Given the description of an element on the screen output the (x, y) to click on. 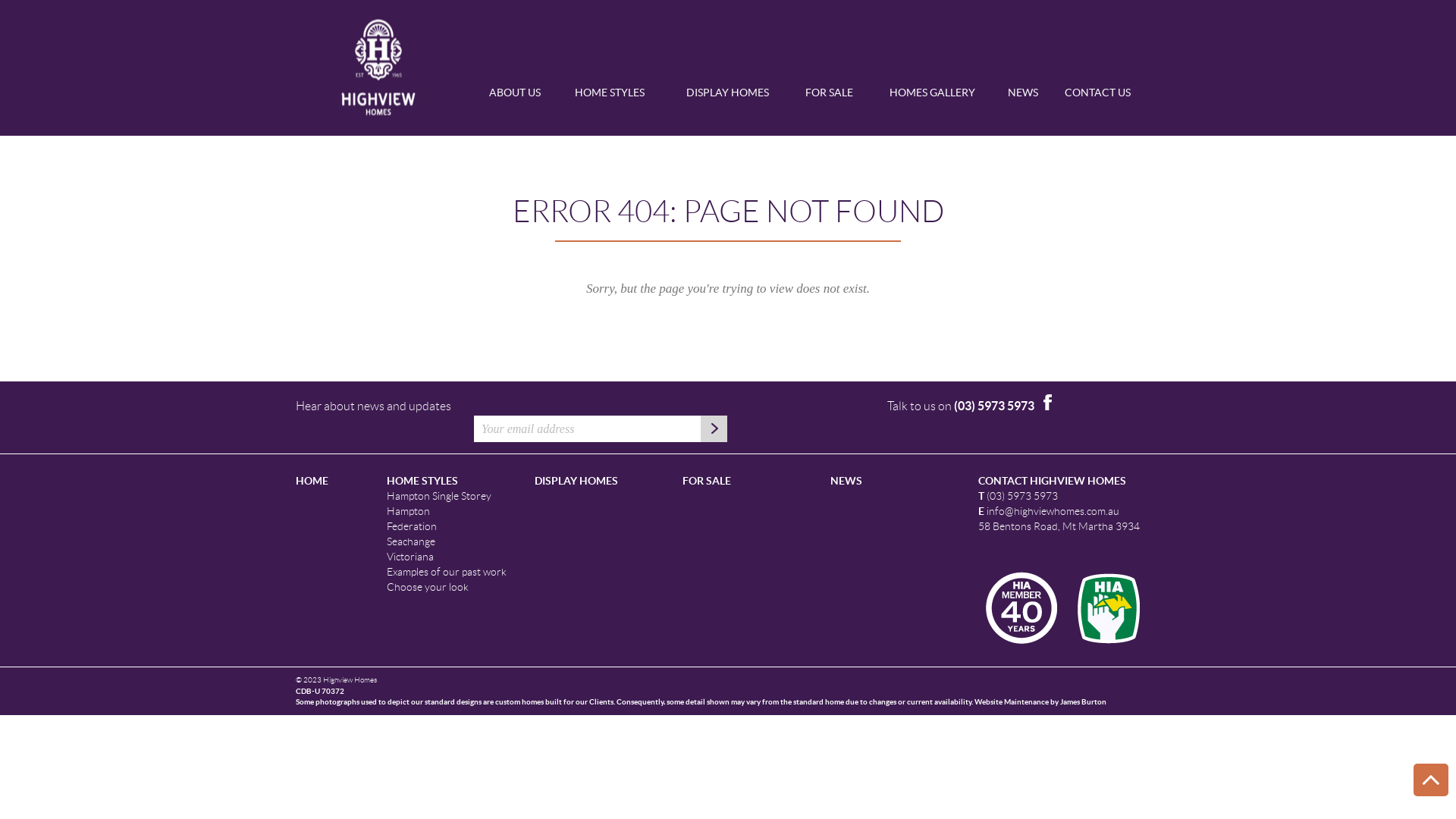
Hampton Single Storey Element type: text (438, 495)
Hampton Element type: text (407, 511)
Federation Element type: text (411, 526)
Victoriana Element type: text (409, 556)
DISPLAY HOMES Element type: text (727, 98)
ABOUT US Element type: text (515, 98)
HOME STYLES Element type: text (609, 98)
HOME Element type: text (379, 67)
NEWS Element type: text (1022, 98)
CONTACT US Element type: text (1097, 98)
Examples of our past work Element type: text (446, 571)
James Burton Element type: text (1083, 701)
info@highviewhomes.com.au Element type: text (1052, 511)
NEWS Element type: text (846, 480)
Choose your look Element type: text (427, 586)
Go Element type: text (713, 428)
HOMES GALLERY Element type: text (932, 98)
FOR SALE Element type: text (828, 98)
CDB-U 70372 Element type: text (319, 691)
HOME STYLES Element type: text (422, 480)
FOR SALE Element type: text (706, 480)
DISPLAY HOMES Element type: text (576, 480)
HOME Element type: text (311, 480)
Seachange Element type: text (410, 541)
